Given the description of an element on the screen output the (x, y) to click on. 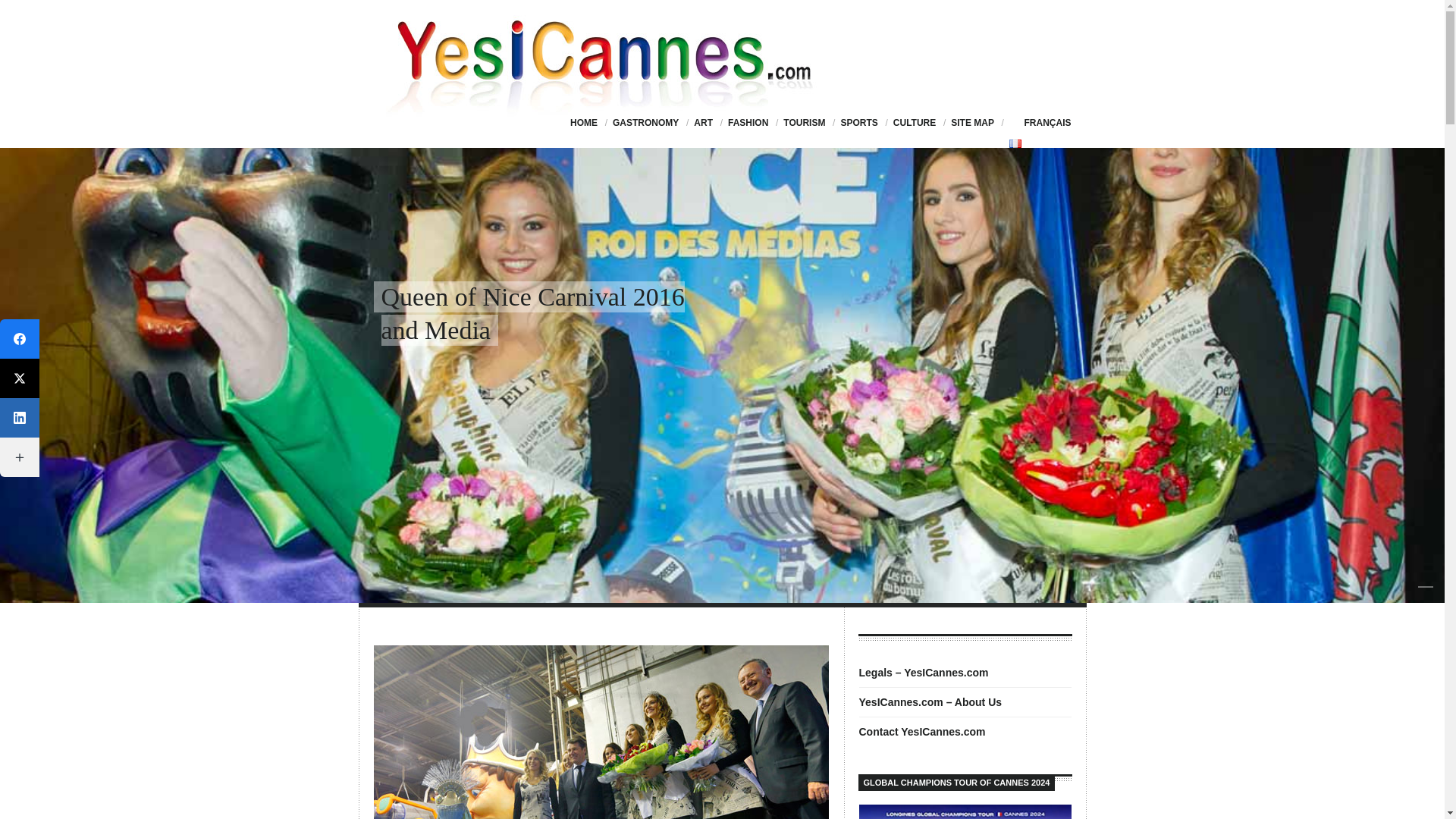
Contact YesICannes.com (922, 731)
SITE MAP (972, 123)
GASTRONOMY (645, 123)
FASHION (748, 123)
SPORTS (858, 123)
TOURISM (804, 123)
CULTURE (914, 123)
